Given the description of an element on the screen output the (x, y) to click on. 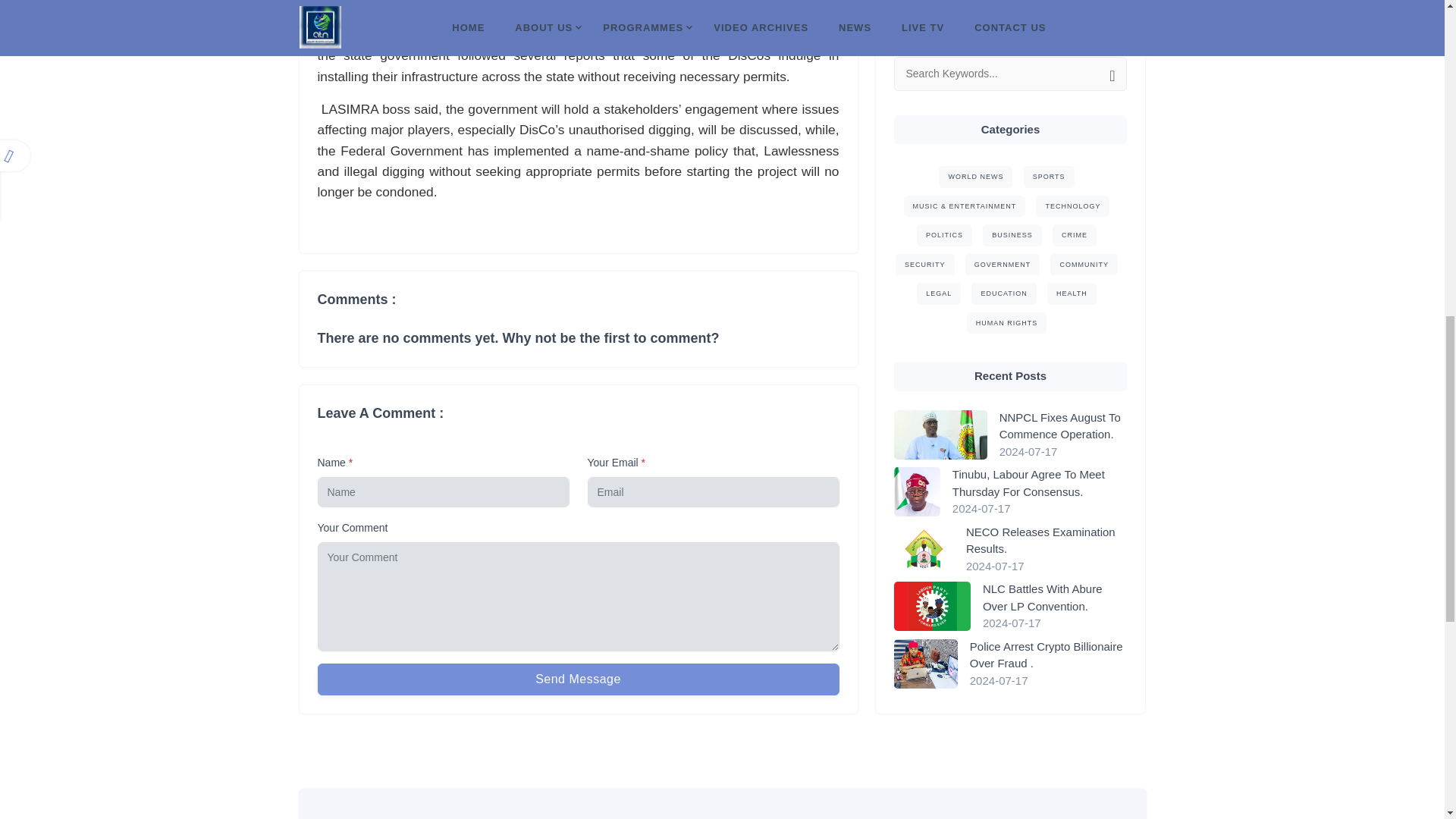
NLC Battles With Abure Over LP Convention. (1054, 219)
Tinubu, Labour Agree To Meet Thursday For Consensus. (1039, 104)
Send Message (577, 679)
NNPCL Fixes August To Commence Operation. (1062, 47)
NECO Releases Examination Results. (1046, 162)
